Given the description of an element on the screen output the (x, y) to click on. 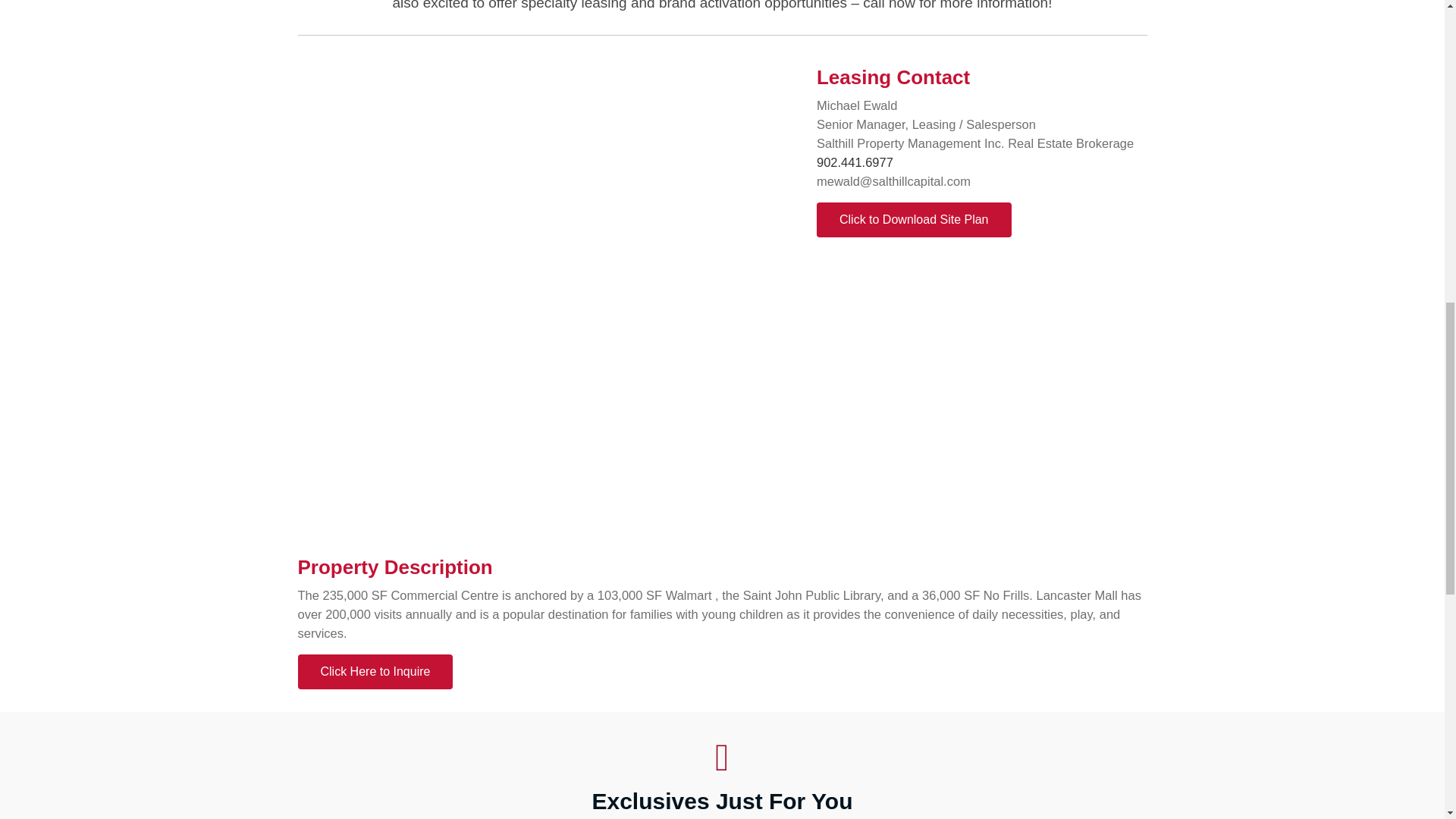
Click to Download Site Plan (913, 219)
Click Here to Inquire (374, 671)
902.441.6977 (854, 161)
